Given the description of an element on the screen output the (x, y) to click on. 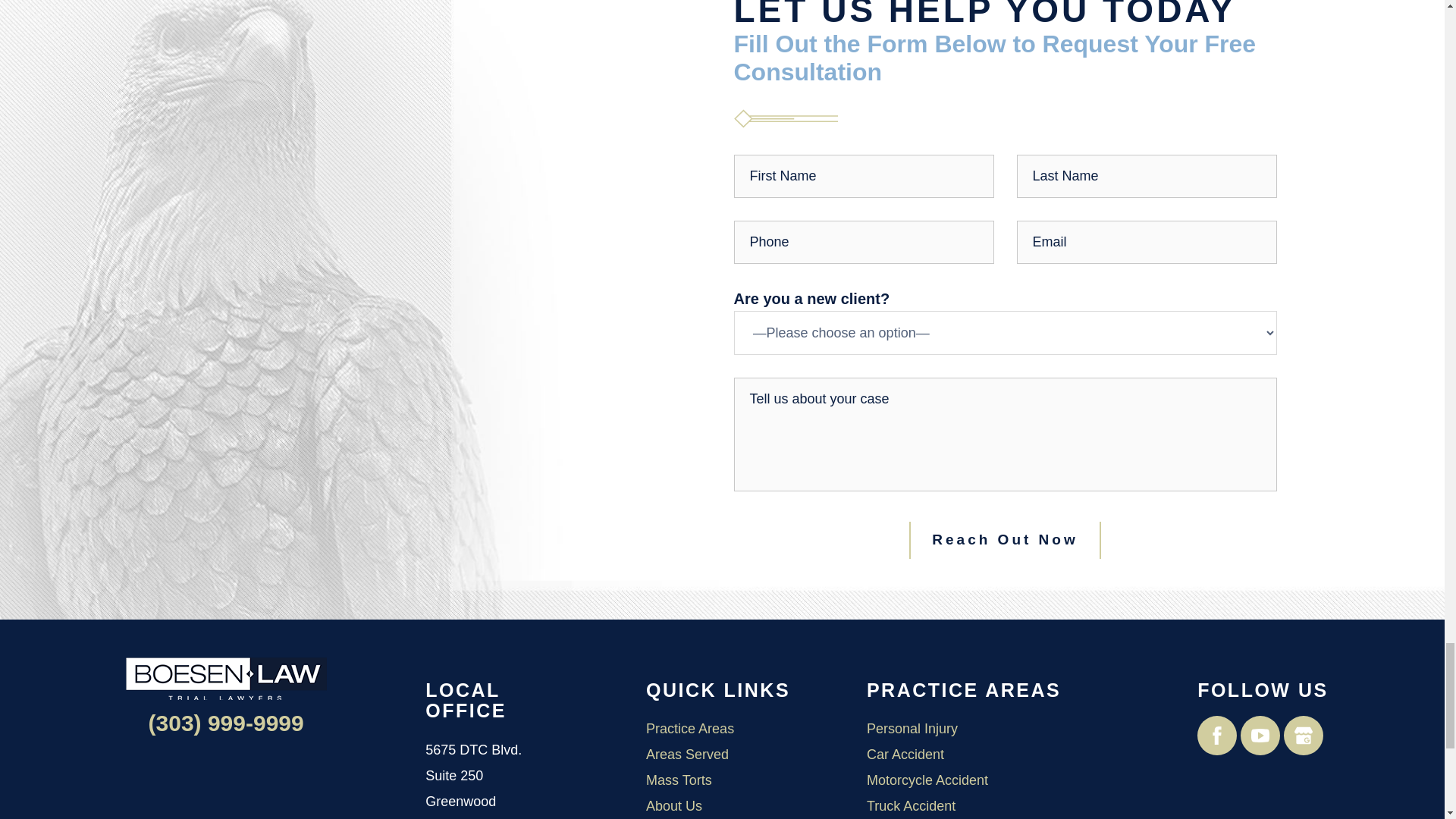
Main Line (226, 722)
